Given the description of an element on the screen output the (x, y) to click on. 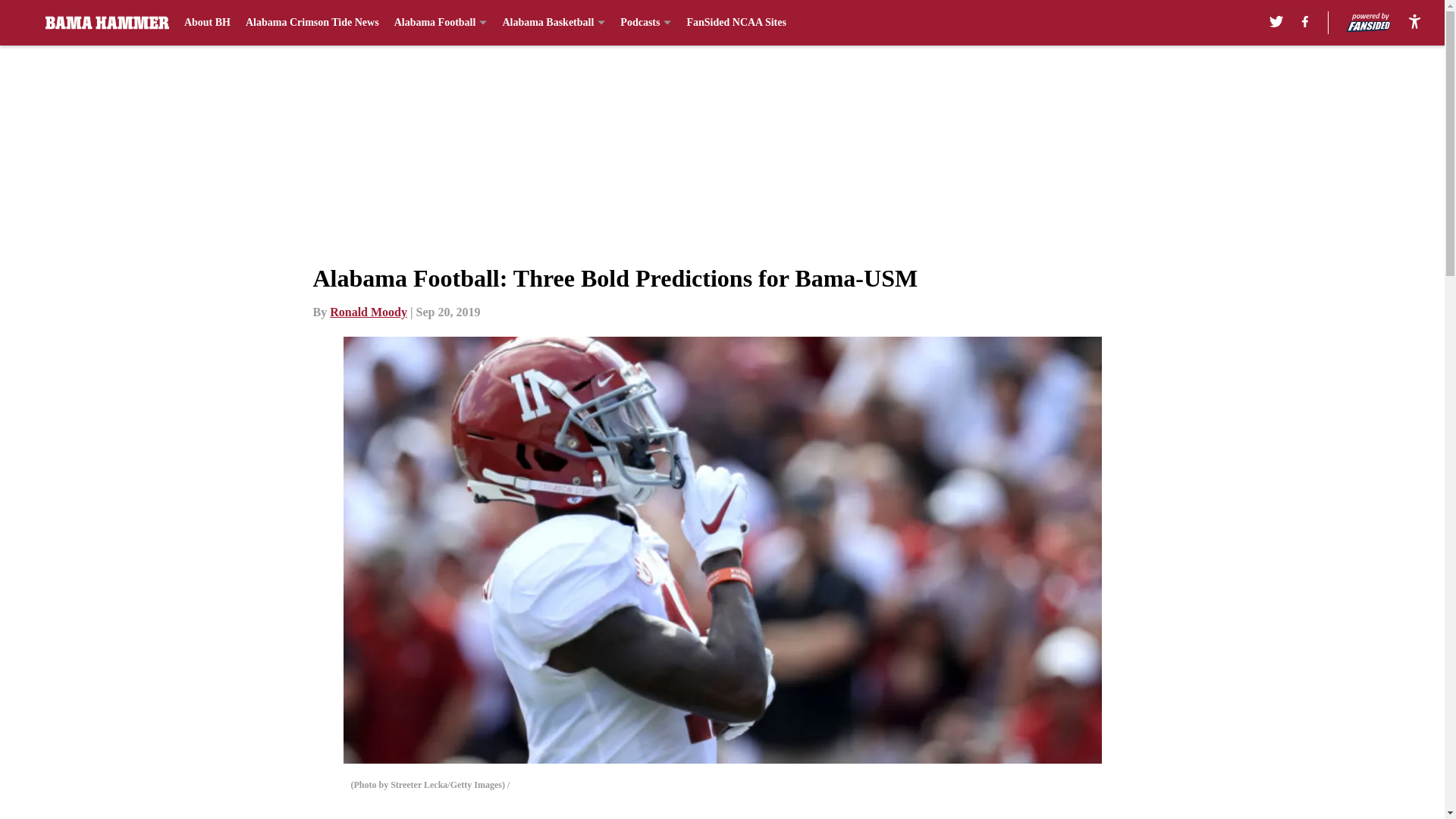
Ronald Moody (368, 311)
FanSided NCAA Sites (735, 22)
Alabama Crimson Tide News (312, 22)
About BH (207, 22)
